Given the description of an element on the screen output the (x, y) to click on. 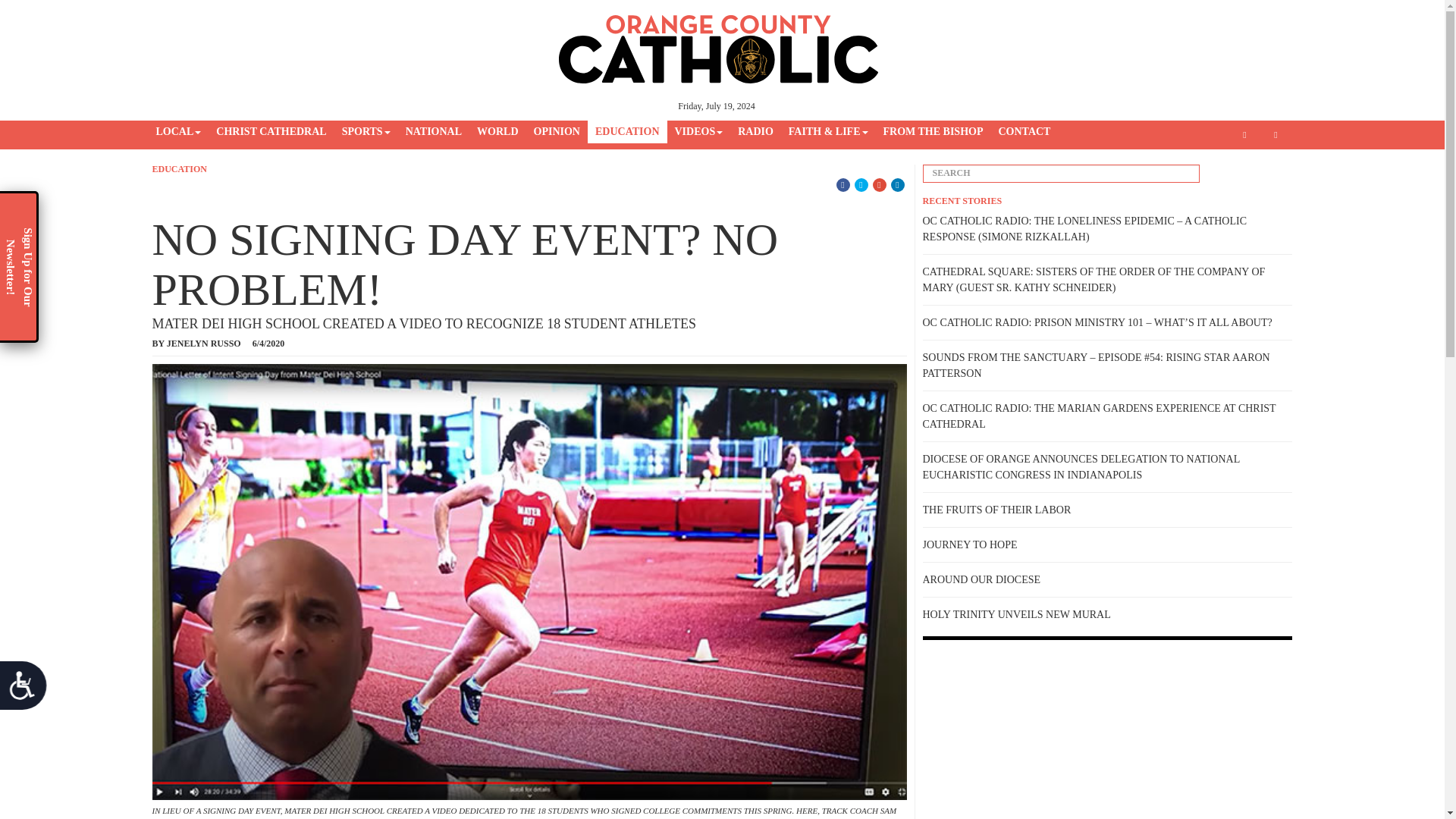
VIDEOS (698, 131)
CONTACT (1024, 131)
RADIO (755, 131)
WORLD (496, 131)
Education (178, 168)
SPORTS (365, 131)
LOCAL (178, 131)
EDUCATION (178, 168)
FROM THE BISHOP (932, 131)
EDUCATION (627, 131)
CHRIST CATHEDRAL (270, 131)
Accessibility (29, 690)
OPINION (556, 131)
